Given the description of an element on the screen output the (x, y) to click on. 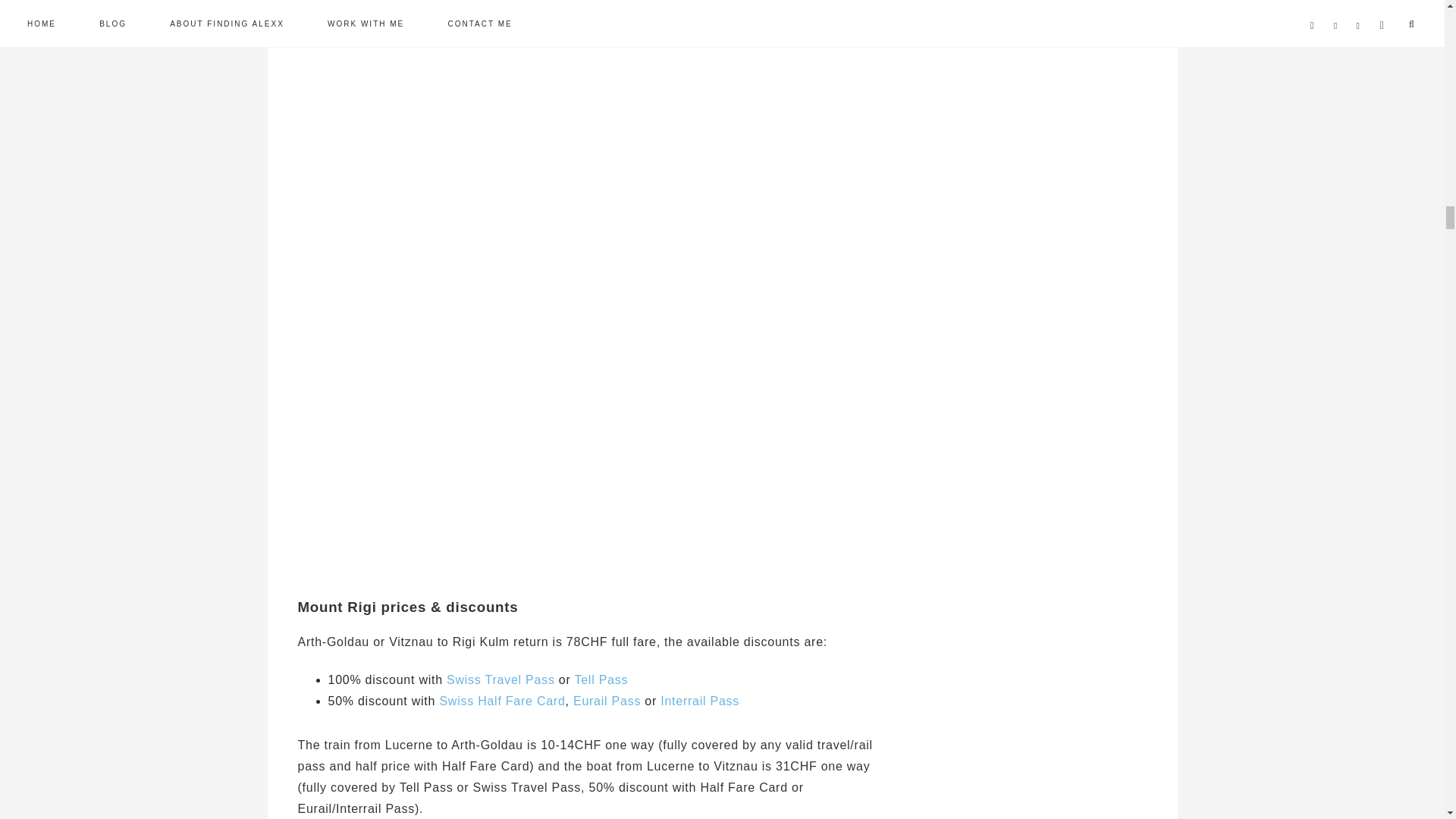
tell pass klook (600, 679)
interrail pass RE rak (700, 700)
Swiss half fare card klook (501, 700)
Eurail Global Pass RE rak (606, 700)
swiss travel pass klook3 (500, 679)
